Given the description of an element on the screen output the (x, y) to click on. 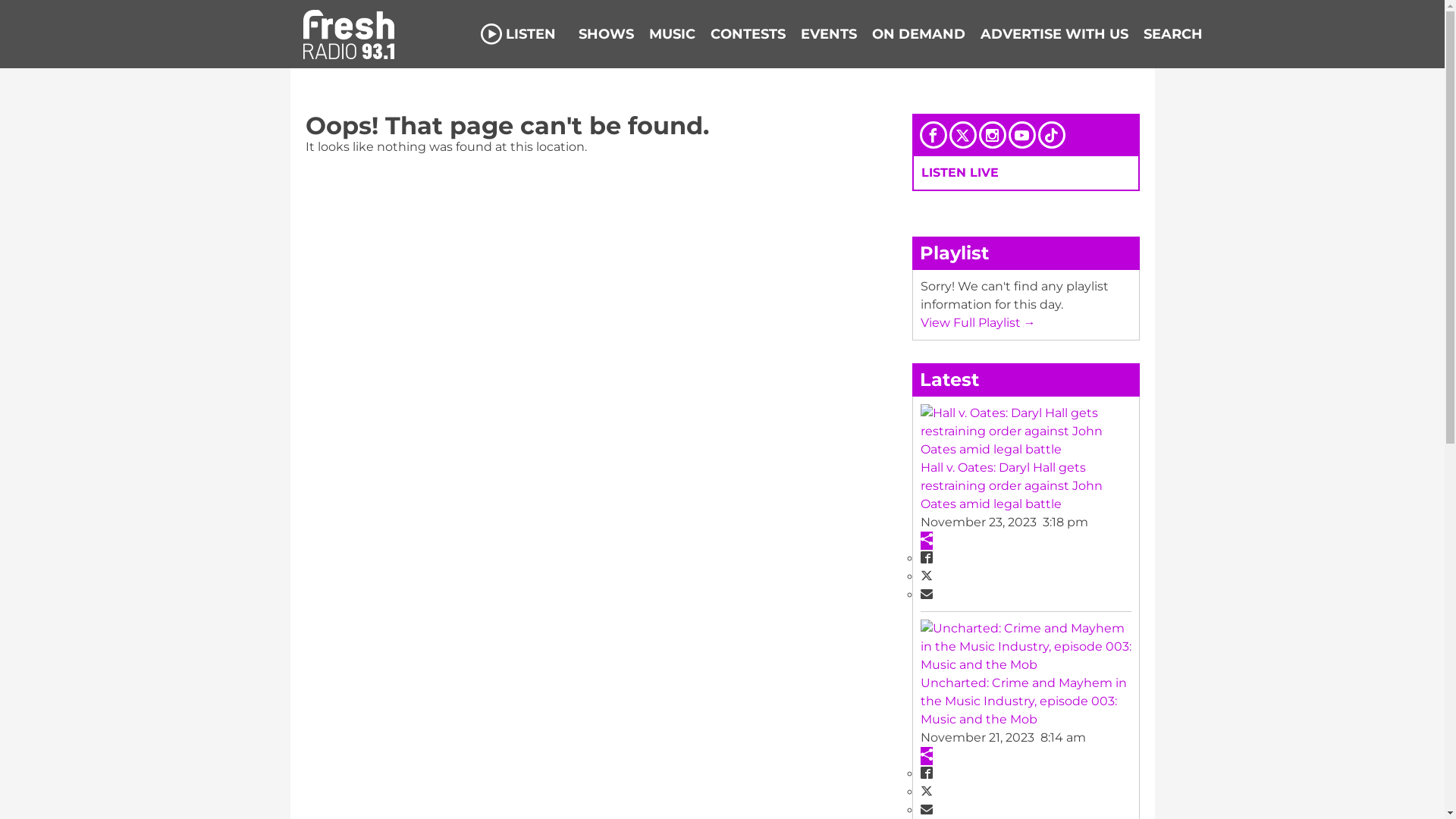
LISTEN LIVE Element type: text (958, 172)
MUSIC Element type: text (671, 34)
EVENTS Element type: text (828, 34)
SHOWS Element type: text (605, 34)
CONTESTS Element type: text (747, 34)
SEARCH Element type: text (1172, 34)
LISTEN Element type: text (518, 34)
ON DEMAND Element type: text (918, 34)
ADVERTISE WITH US Element type: text (1053, 34)
